Given the description of an element on the screen output the (x, y) to click on. 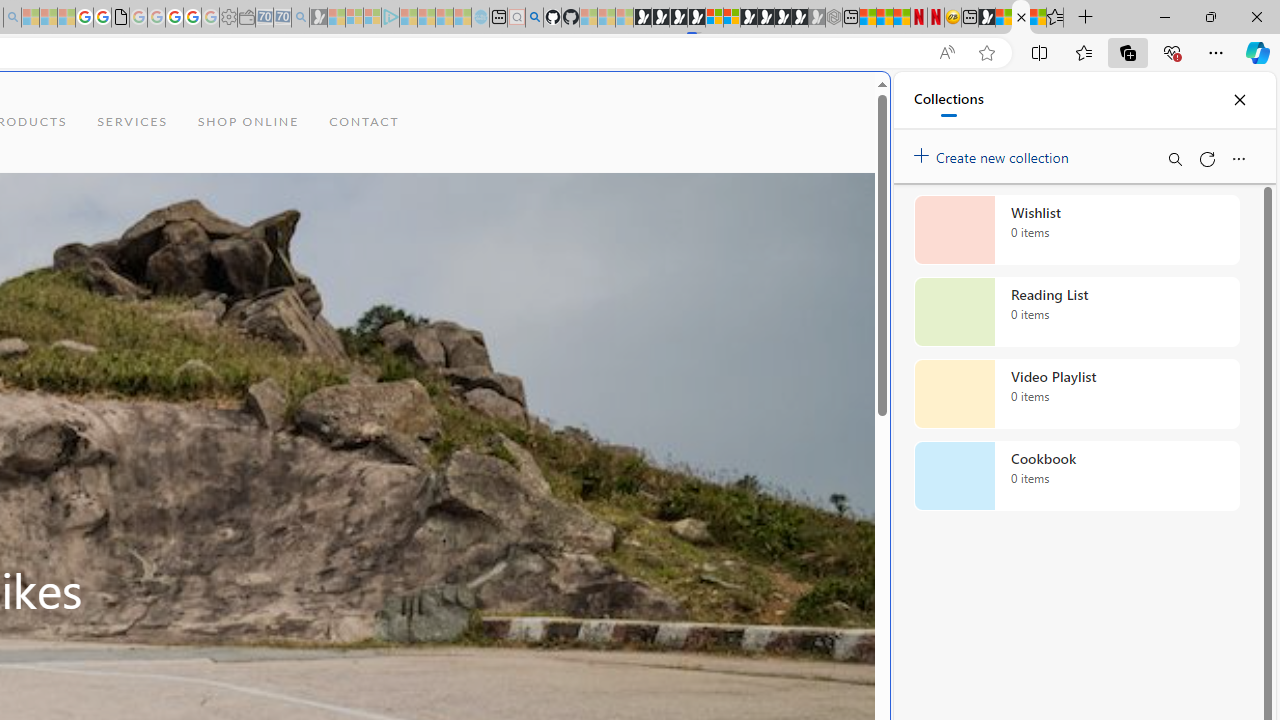
SERVICES (132, 122)
Search or enter web address (343, 191)
